Given the description of an element on the screen output the (x, y) to click on. 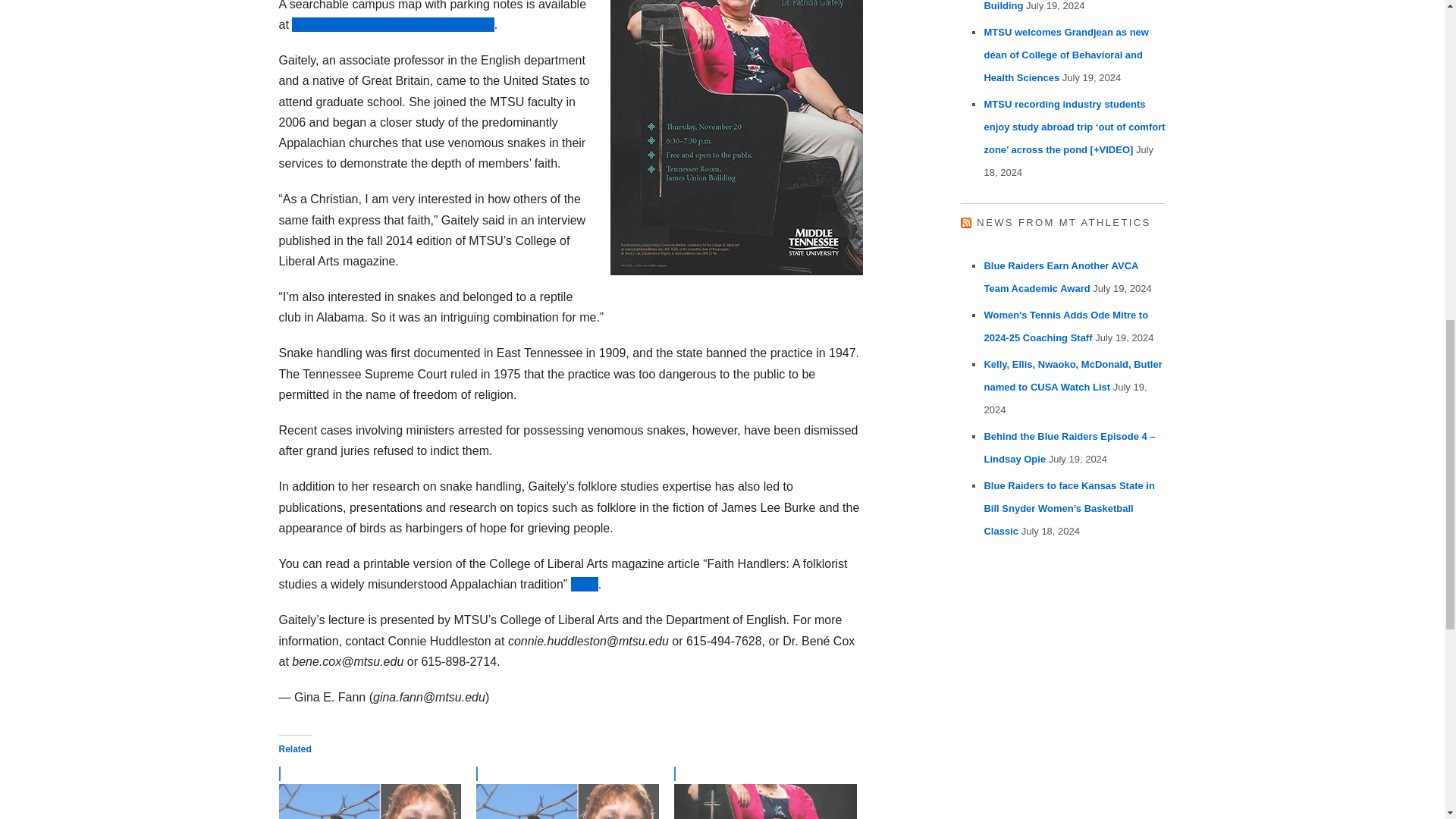
Their Eyes are on the Sparrow (567, 792)
